Given the description of an element on the screen output the (x, y) to click on. 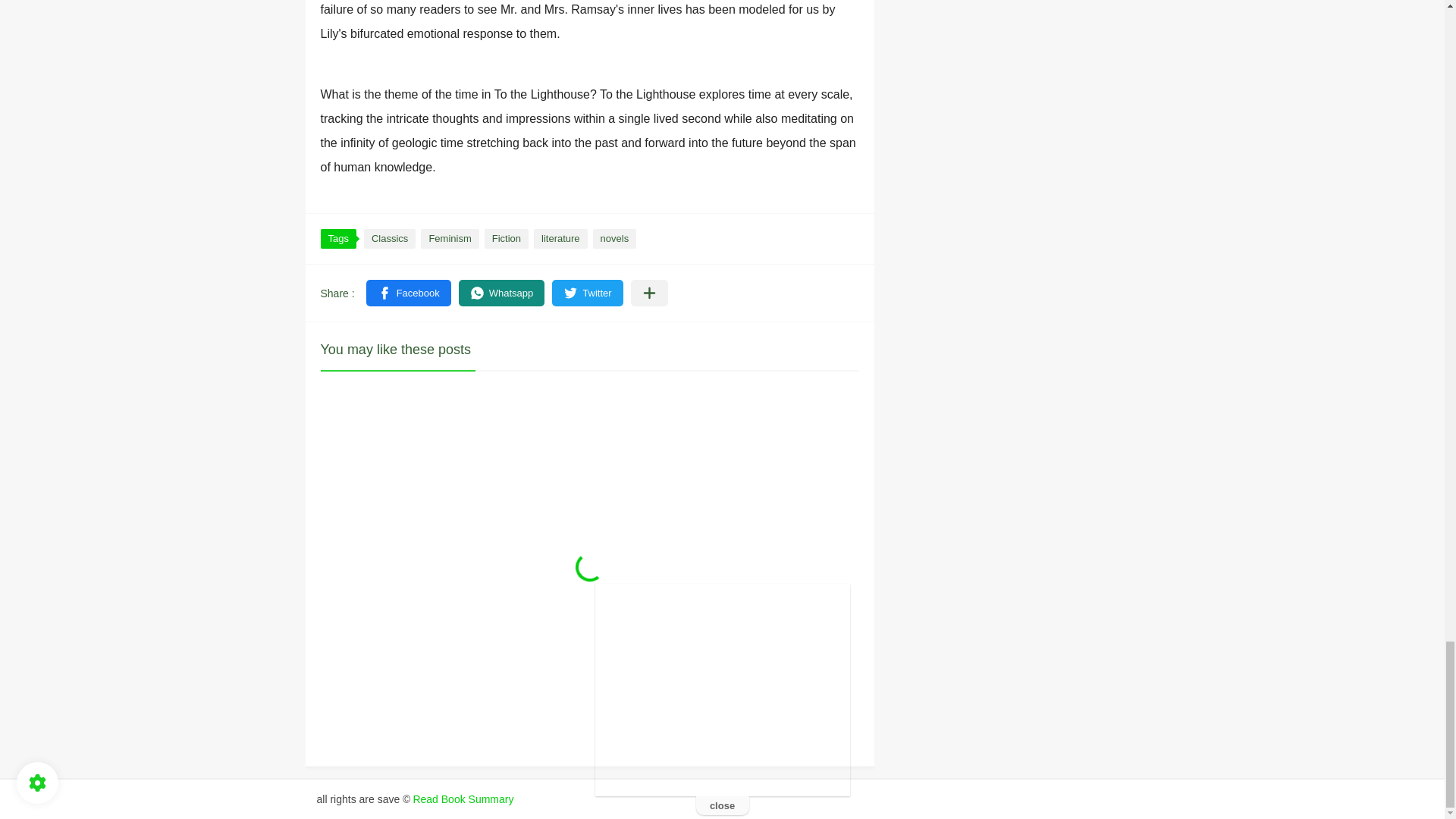
Fiction (506, 238)
Classics (389, 238)
novels (614, 238)
Feminism (449, 238)
Classics (389, 238)
Fiction (506, 238)
literature (561, 238)
Feminism (449, 238)
novels (614, 238)
literature (561, 238)
